Given the description of an element on the screen output the (x, y) to click on. 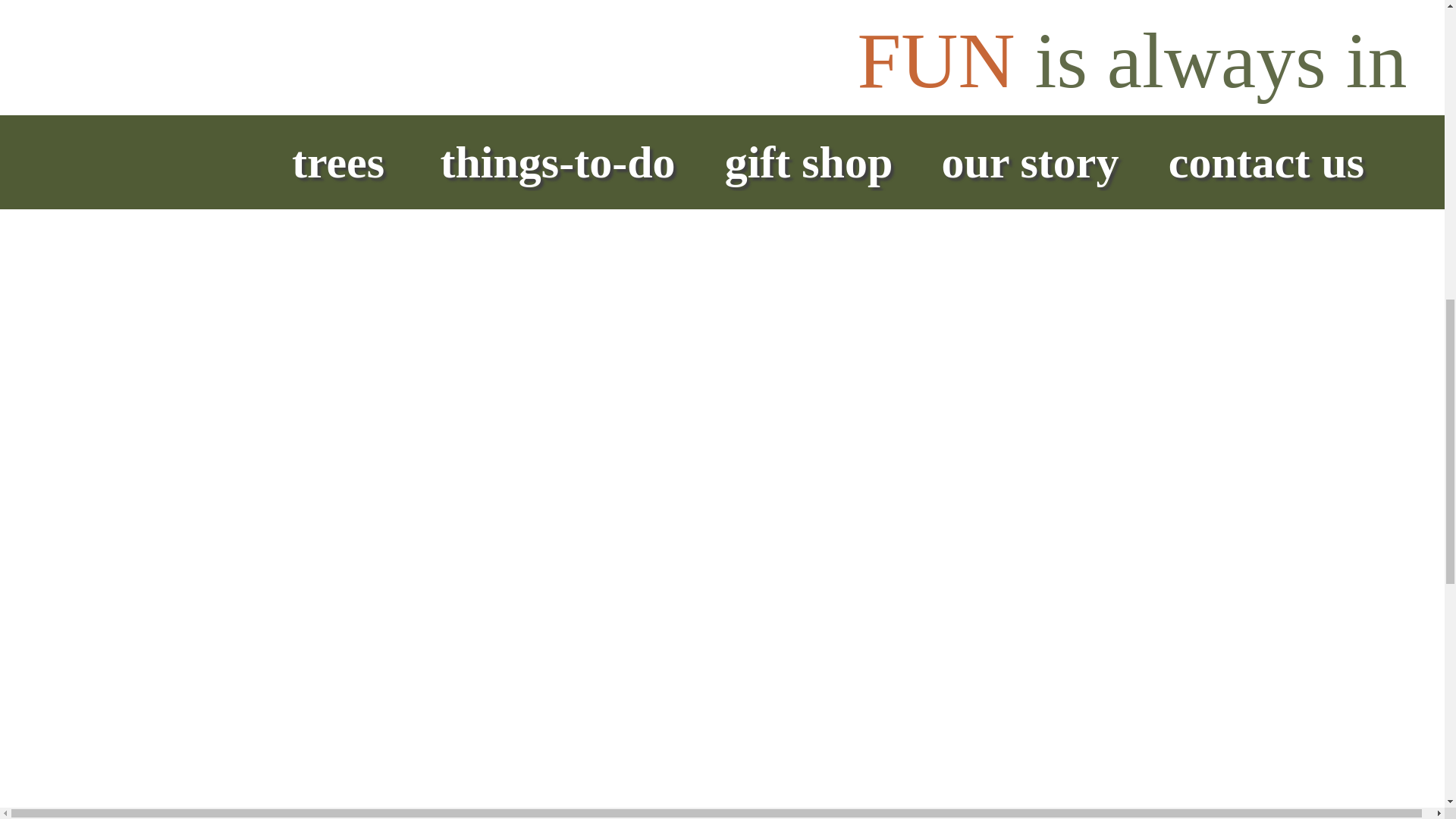
contact us (571, 14)
